Given the description of an element on the screen output the (x, y) to click on. 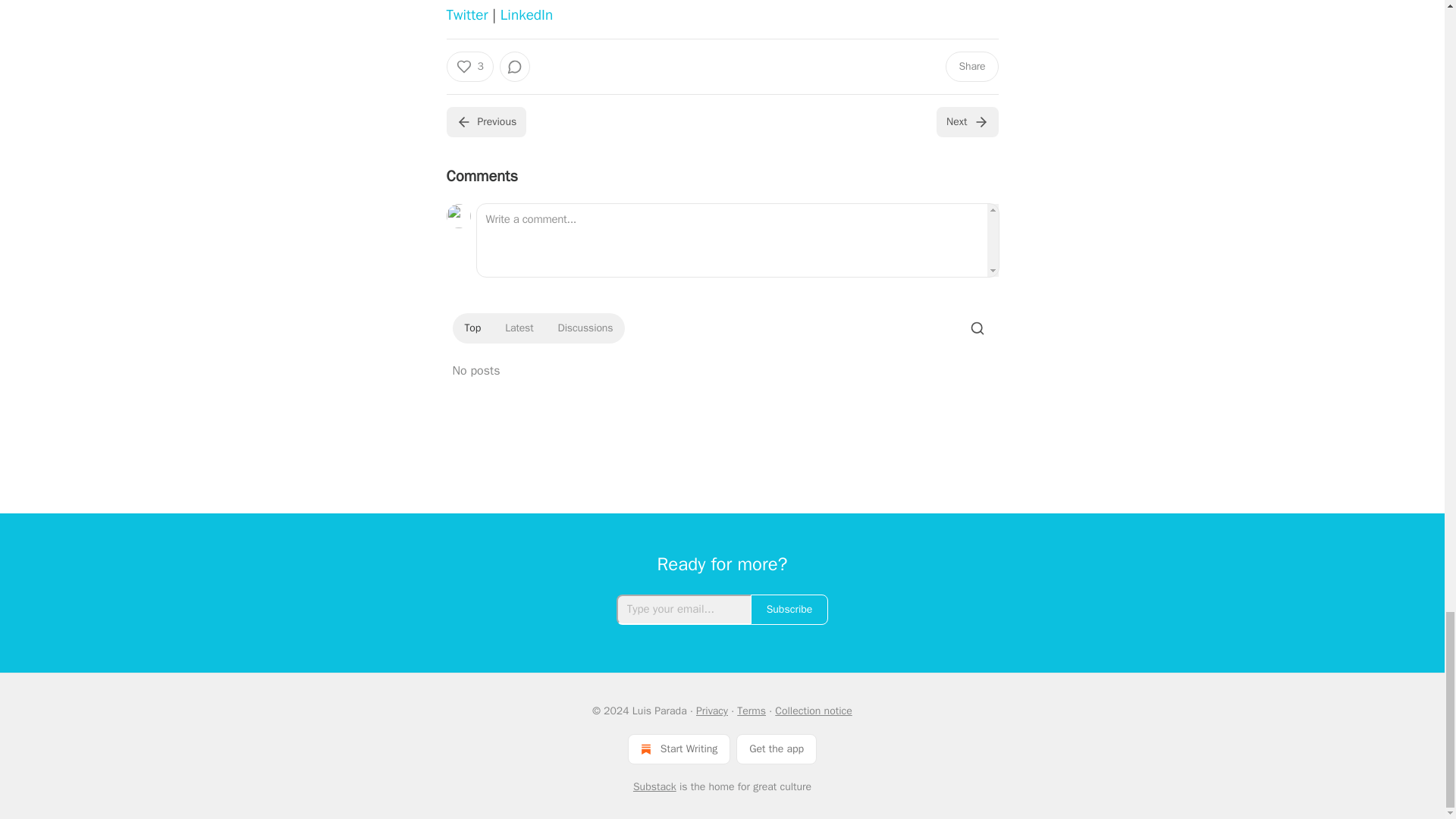
LinkedIn (526, 14)
3 (469, 66)
Twitter (466, 14)
